Given the description of an element on the screen output the (x, y) to click on. 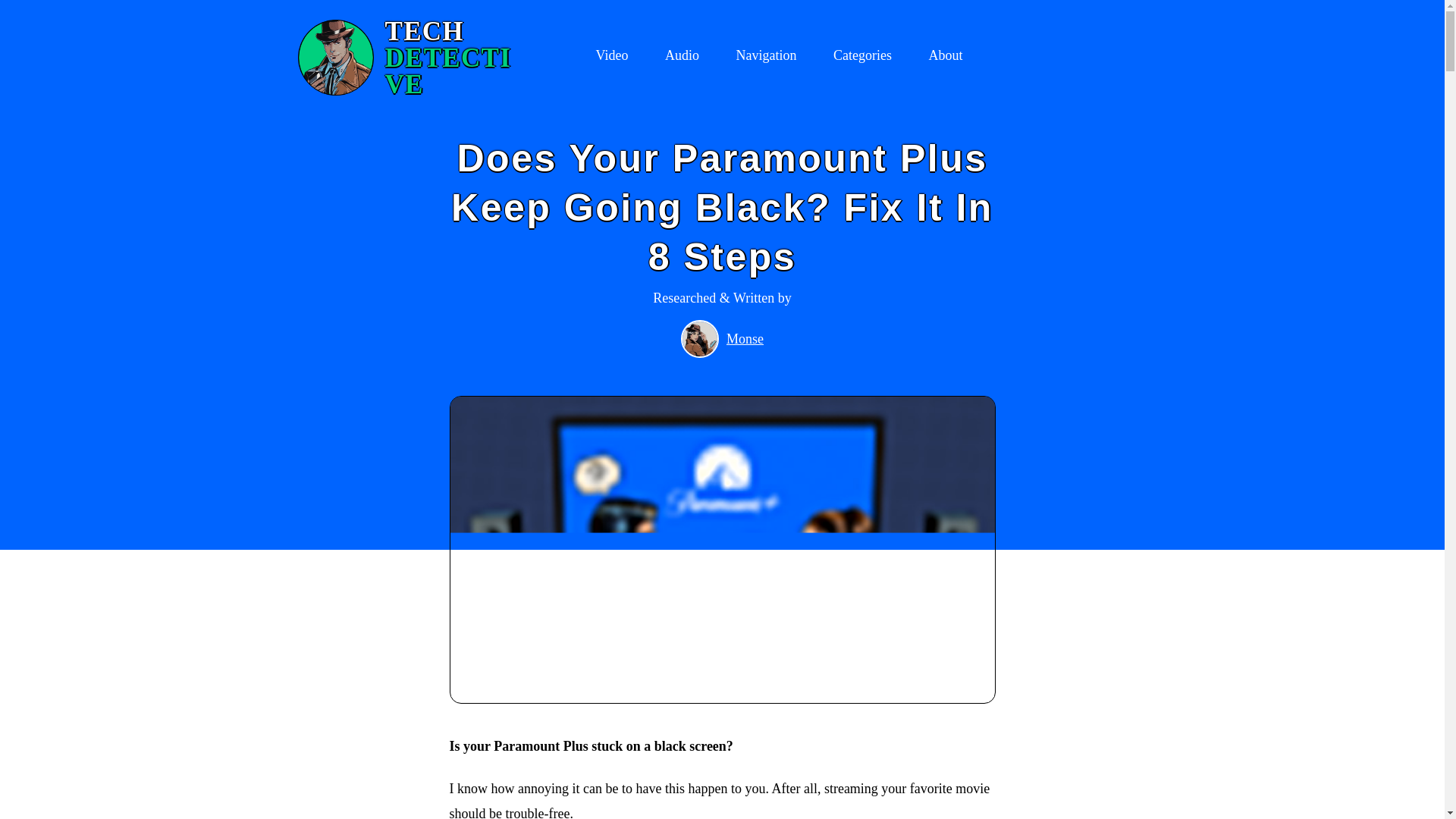
About (945, 58)
Monse (744, 339)
Navigation (410, 57)
Categories (765, 58)
Audio (861, 58)
Video (681, 58)
